Given the description of an element on the screen output the (x, y) to click on. 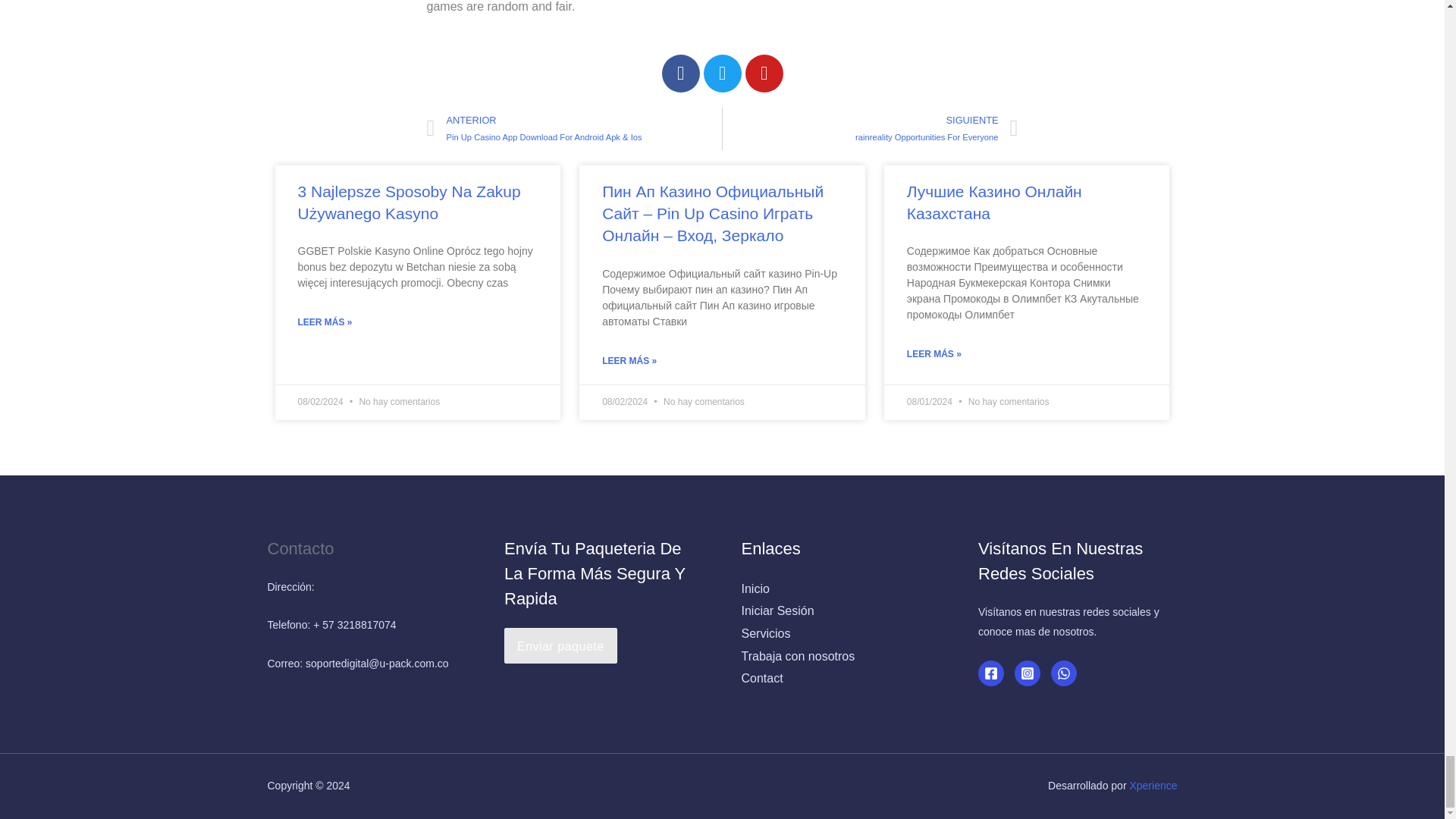
Xperience (1152, 785)
Trabaja con nosotros (798, 656)
Inicio (755, 588)
Enviar paquete (560, 646)
Servicios (765, 633)
Contact (762, 677)
